Given the description of an element on the screen output the (x, y) to click on. 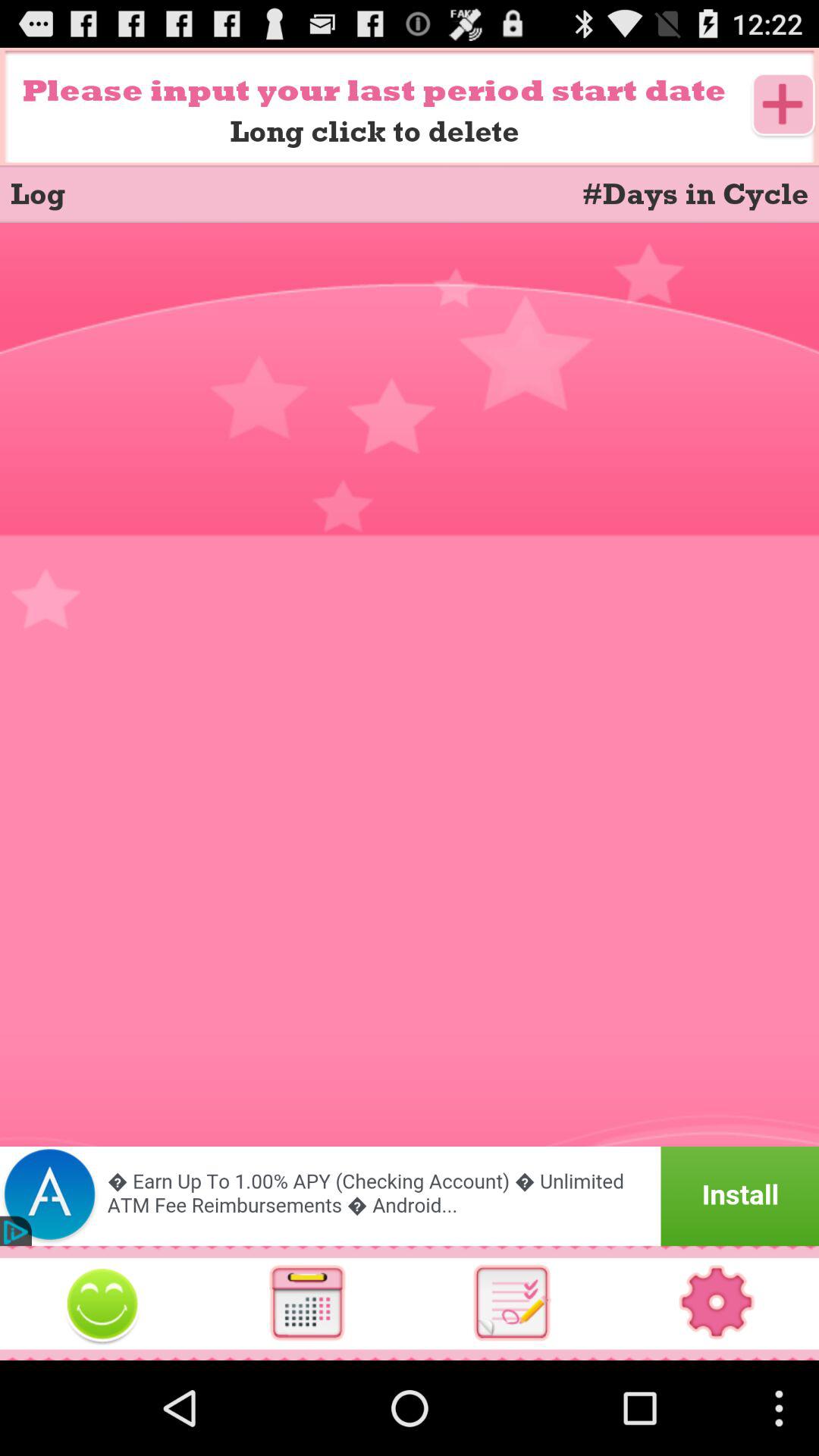
see calendar (306, 1302)
